Given the description of an element on the screen output the (x, y) to click on. 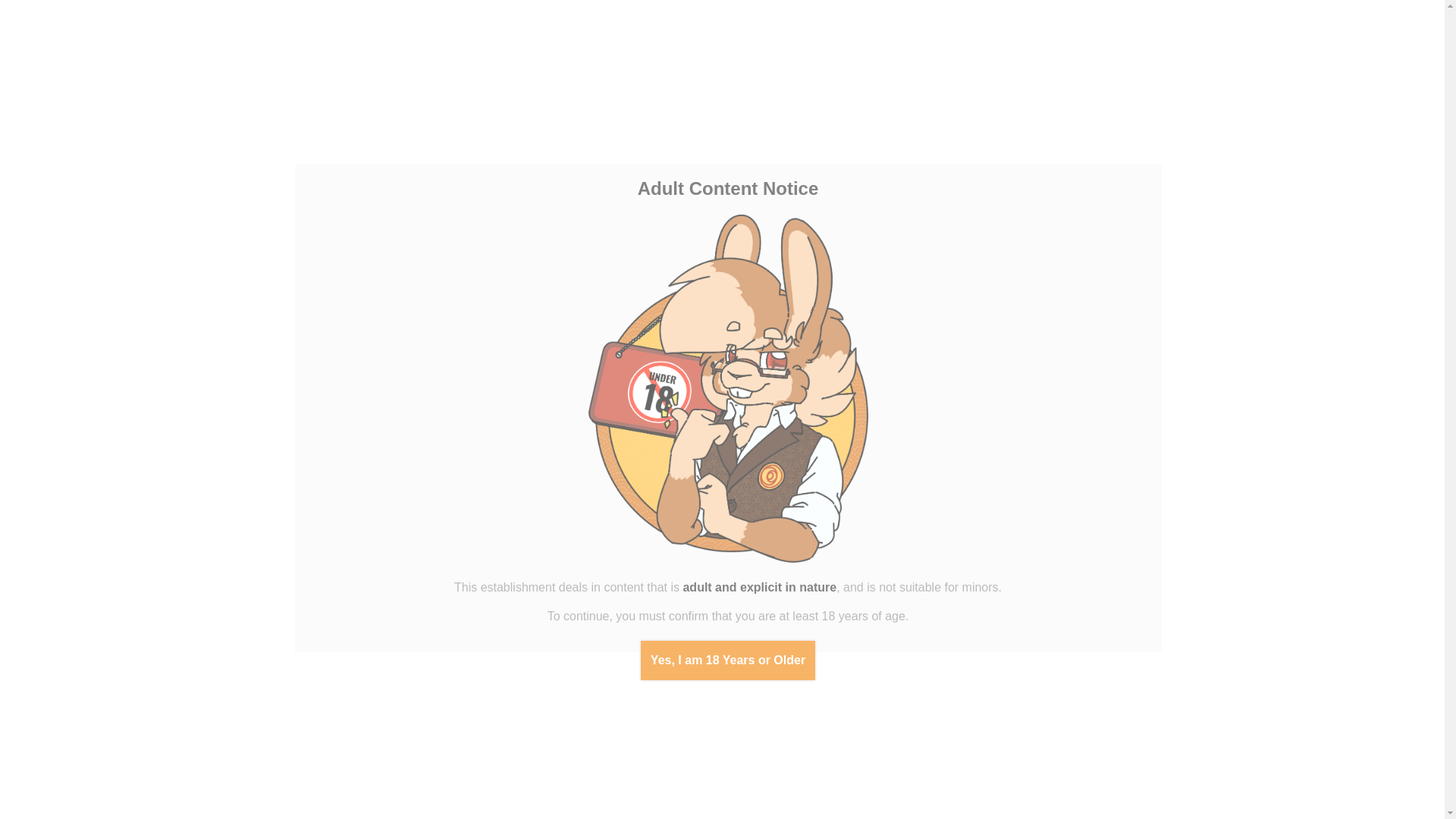
20 (63, 534)
28 (83, 552)
Sunday (171, 470)
Saturday (149, 470)
14 (83, 518)
26 (40, 552)
Friday (127, 470)
Wednesday (85, 470)
Subscribe! (106, 222)
Jam Sessions (106, 91)
